Given the description of an element on the screen output the (x, y) to click on. 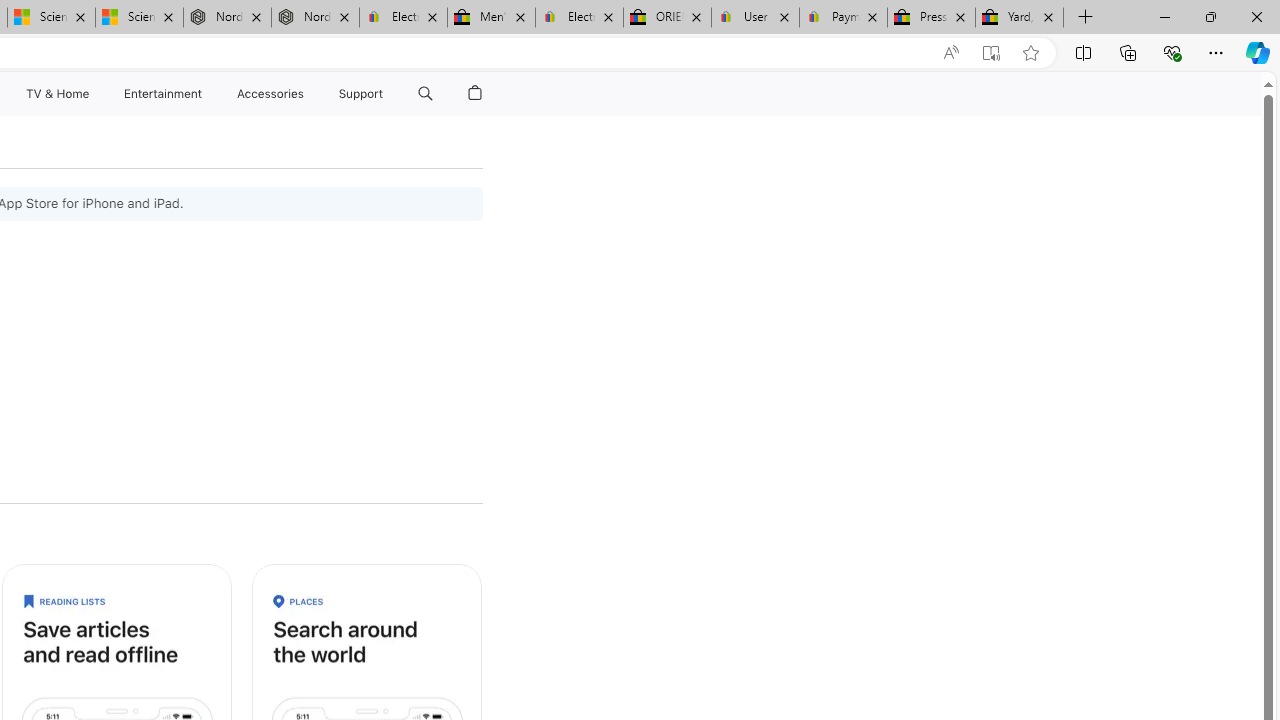
Support (361, 93)
Payments Terms of Use | eBay.com (843, 17)
Class: globalnav-item globalnav-search shift-0-1 (425, 93)
Nordace - Summer Adventures 2024 (315, 17)
Accessories menu (306, 93)
Search apple.com (425, 93)
User Privacy Notice | eBay (754, 17)
TV and Home (56, 93)
